Given the description of an element on the screen output the (x, y) to click on. 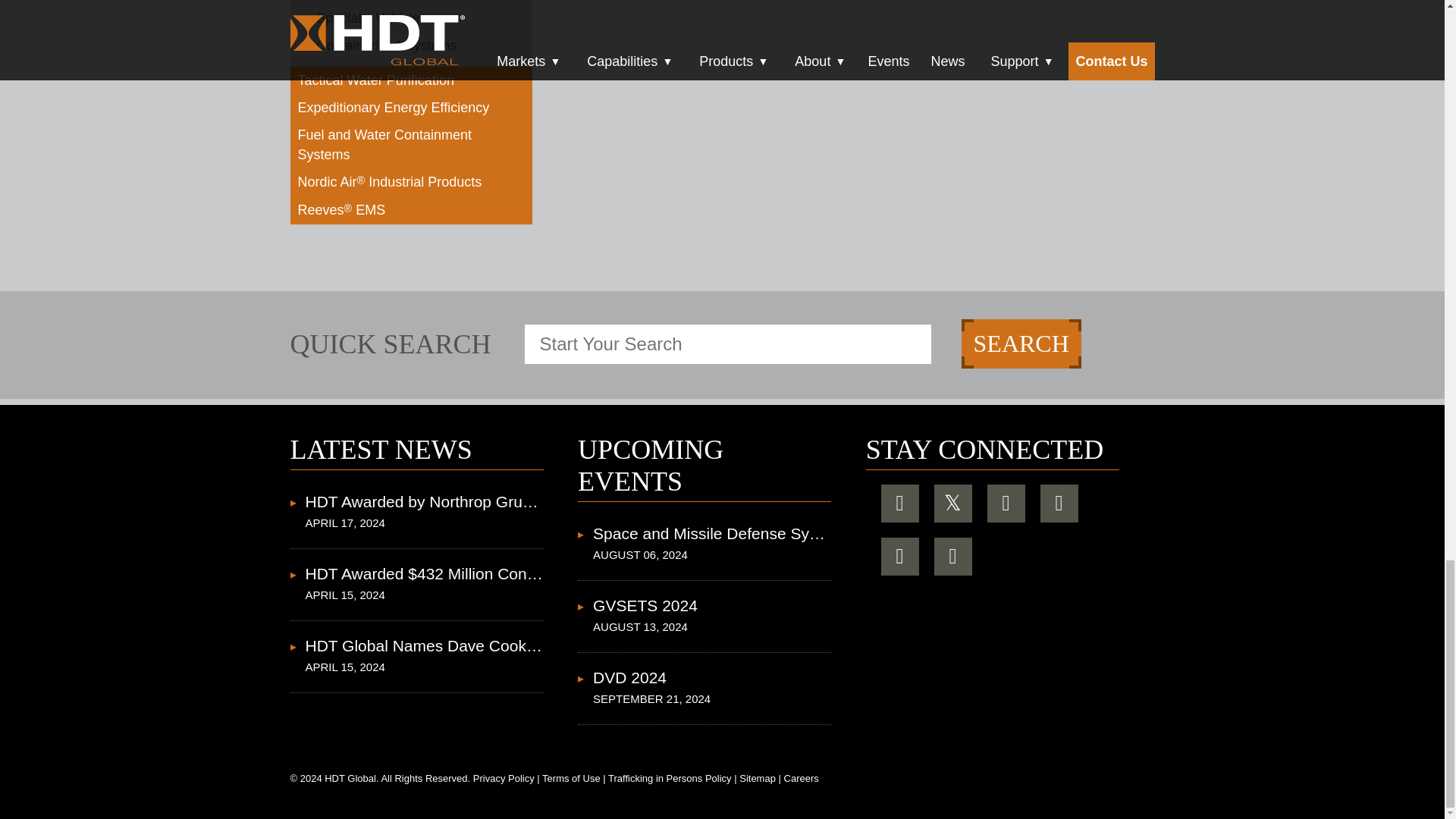
Search (1020, 343)
Search (1020, 343)
